Given the description of an element on the screen output the (x, y) to click on. 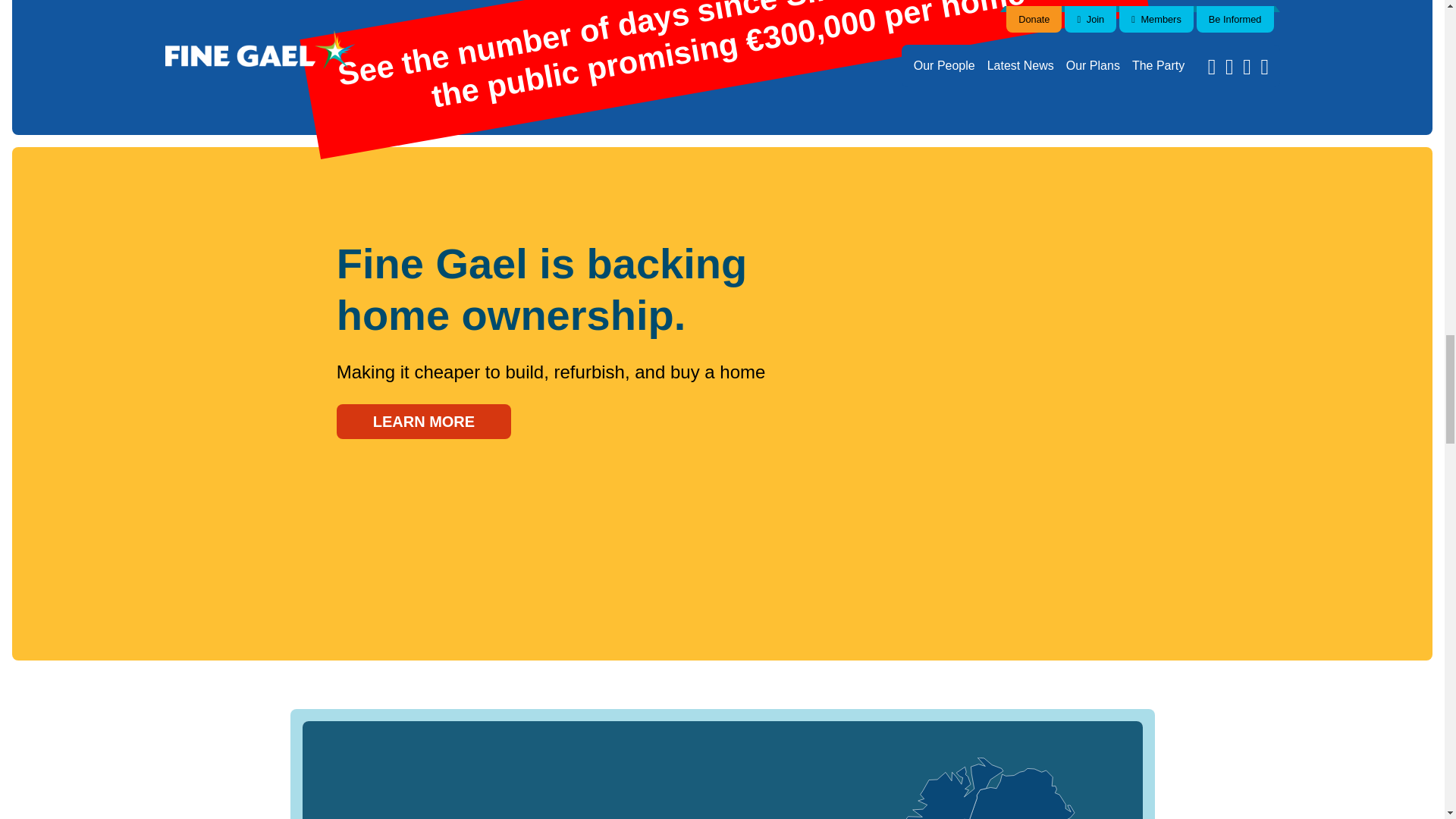
Donegal (952, 788)
LEARN MORE (423, 421)
